Given the description of an element on the screen output the (x, y) to click on. 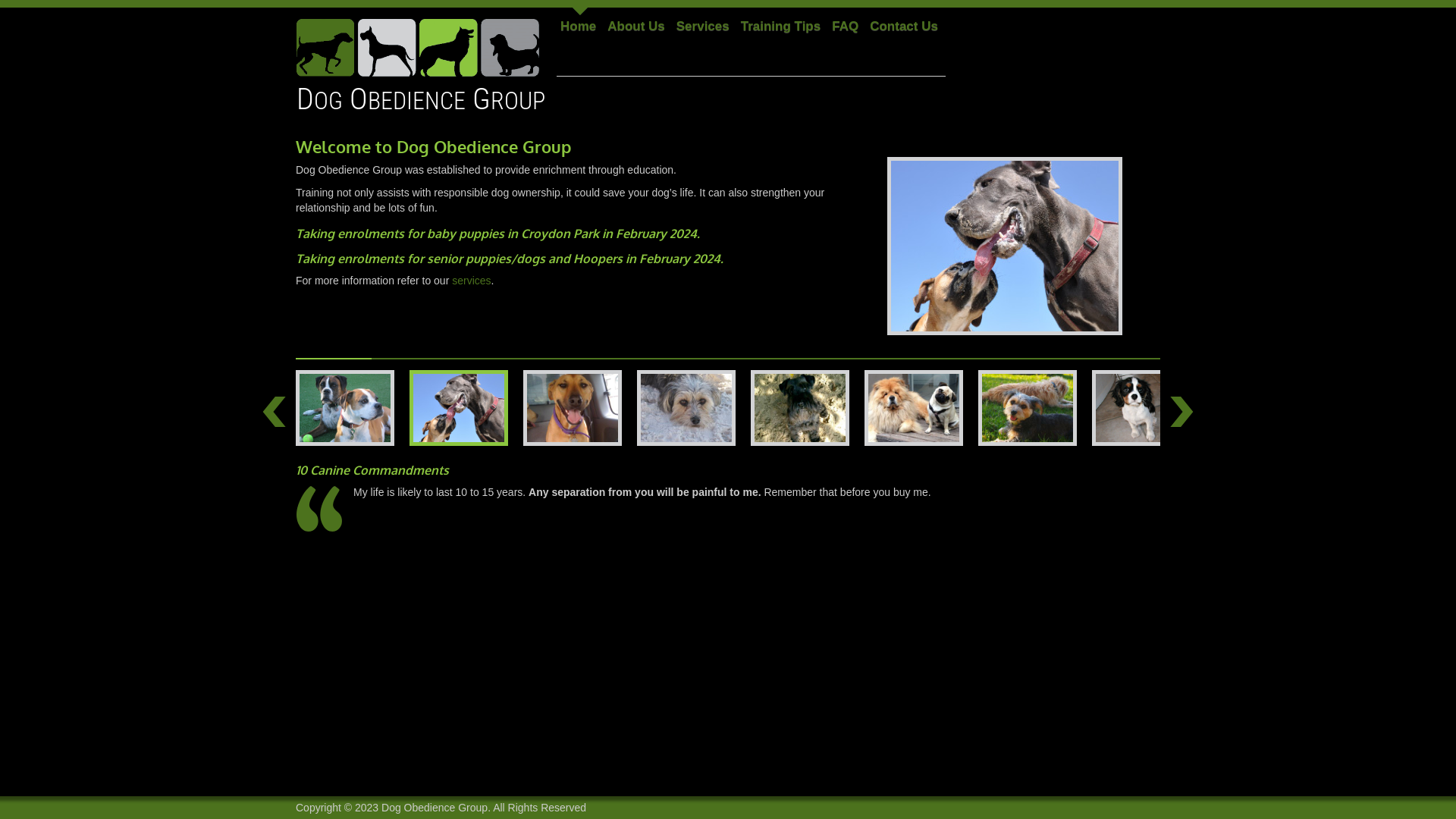
Contact Us Element type: text (903, 26)
FAQ Element type: text (844, 26)
DOG OBEDIENCE GROUP Element type: text (426, 62)
Services Element type: text (702, 26)
Home Element type: text (578, 26)
services Element type: text (470, 280)
Training Tips Element type: text (780, 26)
About Us Element type: text (636, 26)
